Given the description of an element on the screen output the (x, y) to click on. 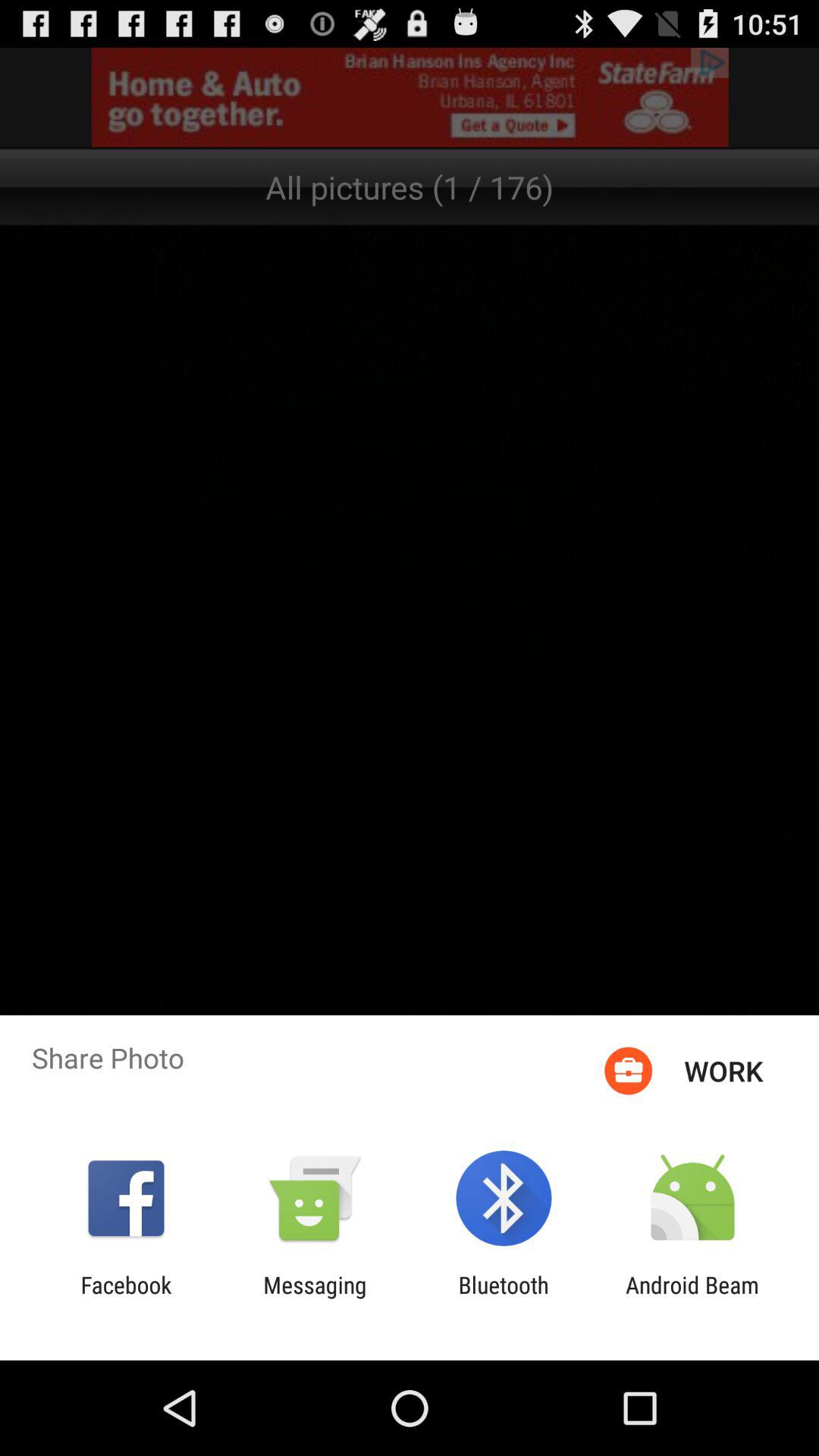
flip until the bluetooth app (503, 1298)
